Given the description of an element on the screen output the (x, y) to click on. 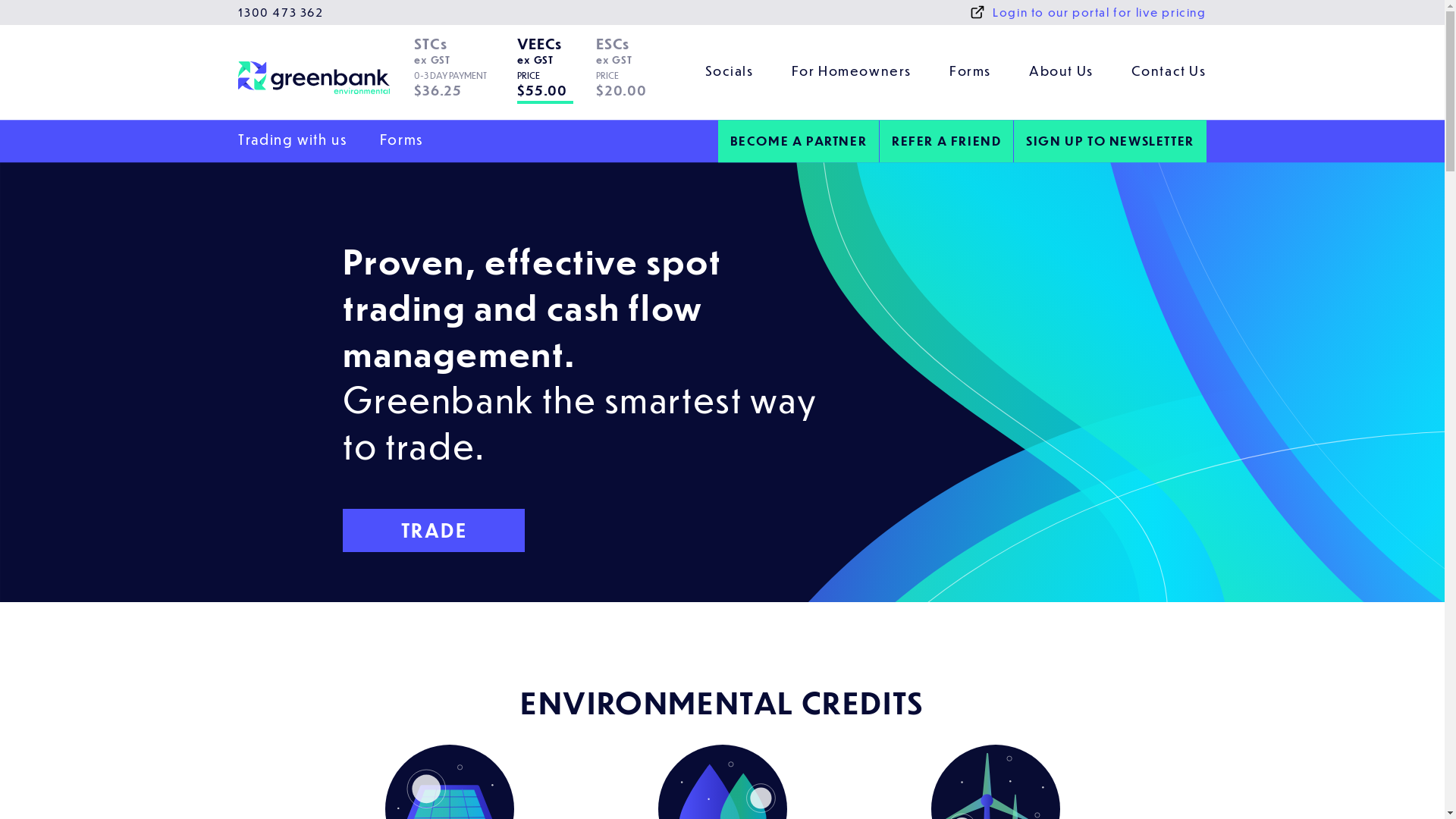
STCs
ex GST
0-3 DAY PAYMENT
$36.25 Element type: text (461, 71)
ESCs
ex GST
PRICE
$20.00 Element type: text (628, 71)
About Us Element type: text (1061, 72)
Forms Element type: text (401, 139)
Contact Us Element type: text (1168, 72)
REFER A FRIEND Element type: text (946, 140)
Login to our portal for live pricing Element type: text (1087, 11)
Forms Element type: text (970, 72)
Trading with us Element type: text (292, 139)
BECOME A PARTNER Element type: text (798, 140)
TRADE Element type: text (433, 530)
Socials Element type: text (729, 72)
SIGN UP TO NEWSLETTER Element type: text (1109, 140)
For Homeowners Element type: text (851, 72)
VEECs
ex GST
PRICE
$55.00 Element type: text (552, 71)
